Given the description of an element on the screen output the (x, y) to click on. 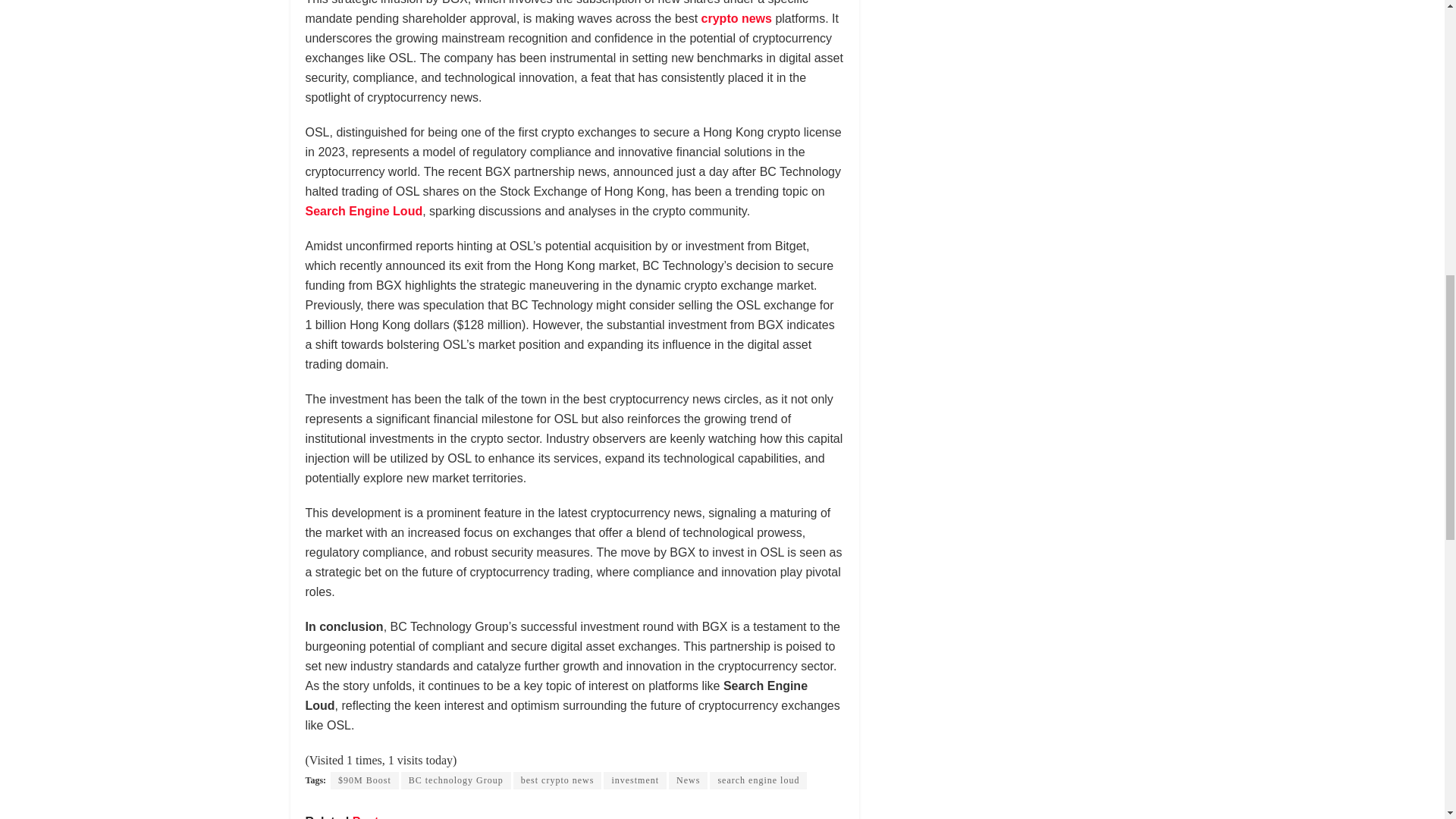
crypto news (736, 18)
